Given the description of an element on the screen output the (x, y) to click on. 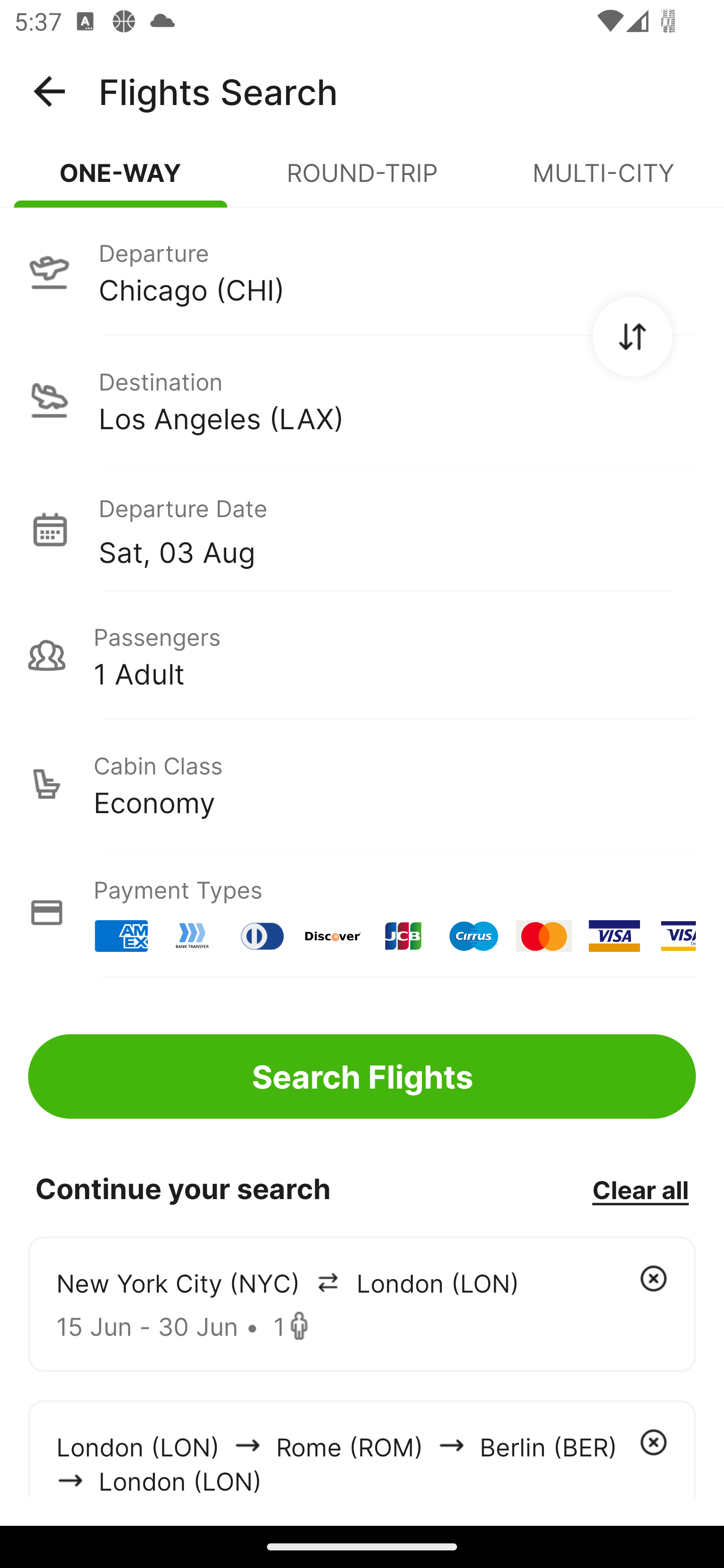
ONE-WAY (120, 180)
ROUND-TRIP (361, 180)
MULTI-CITY (603, 180)
Departure Chicago (CHI) (362, 270)
Destination Los Angeles (LAX) (362, 400)
Departure Date Sat, 03 Aug (396, 528)
Passengers 1 Adult (362, 655)
Cabin Class Economy (362, 783)
Payment Types (362, 912)
Search Flights (361, 1075)
Clear all (640, 1189)
